Given the description of an element on the screen output the (x, y) to click on. 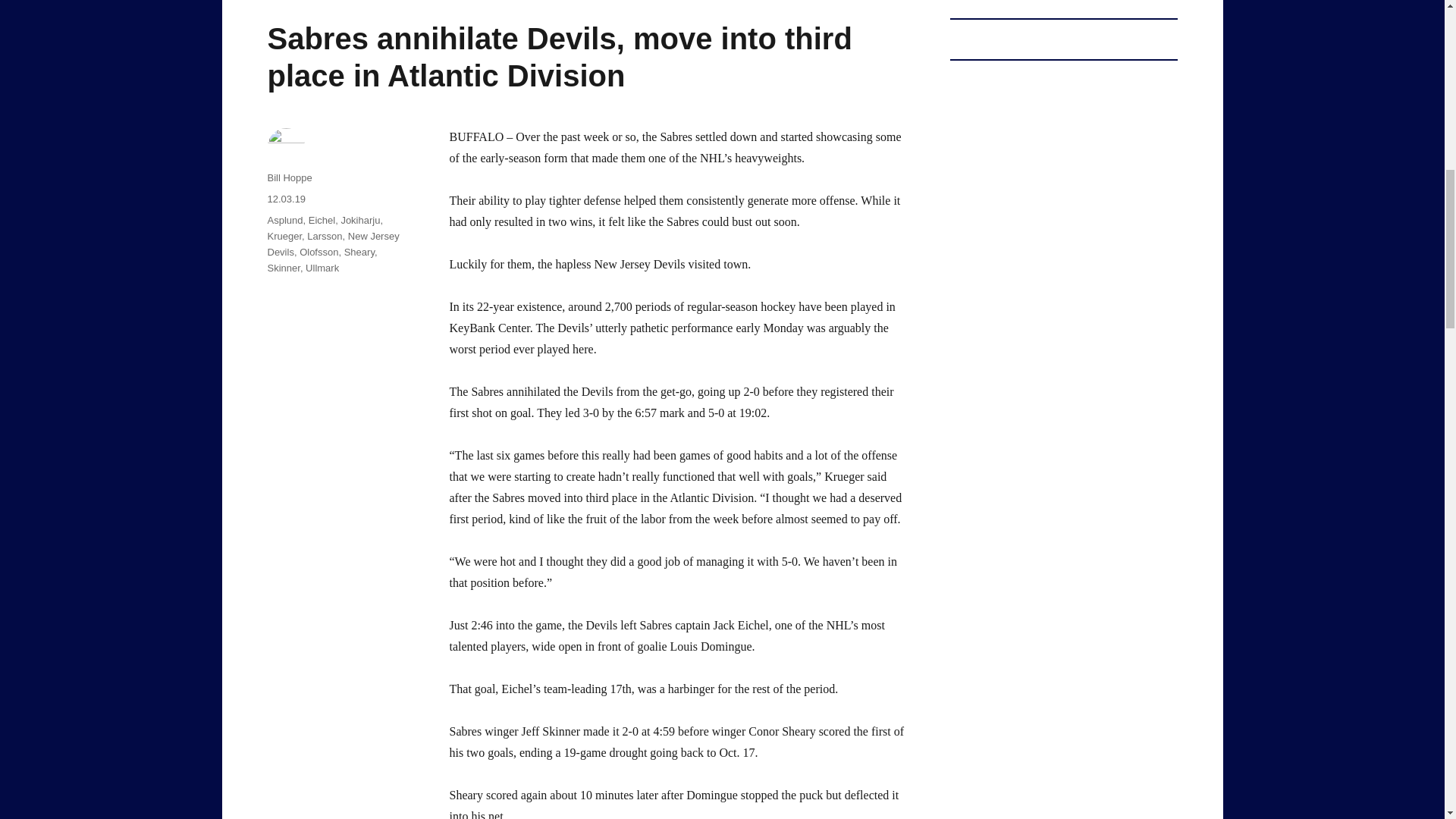
Asplund (284, 220)
Eichel (321, 220)
Sheary (358, 251)
12.03.19 (285, 198)
Skinner (282, 267)
Olofsson (318, 251)
Larsson (324, 235)
Ullmark (322, 267)
Jokiharju (360, 220)
Krueger (283, 235)
New Jersey Devils (332, 243)
Bill Hoppe (288, 177)
